Given the description of an element on the screen output the (x, y) to click on. 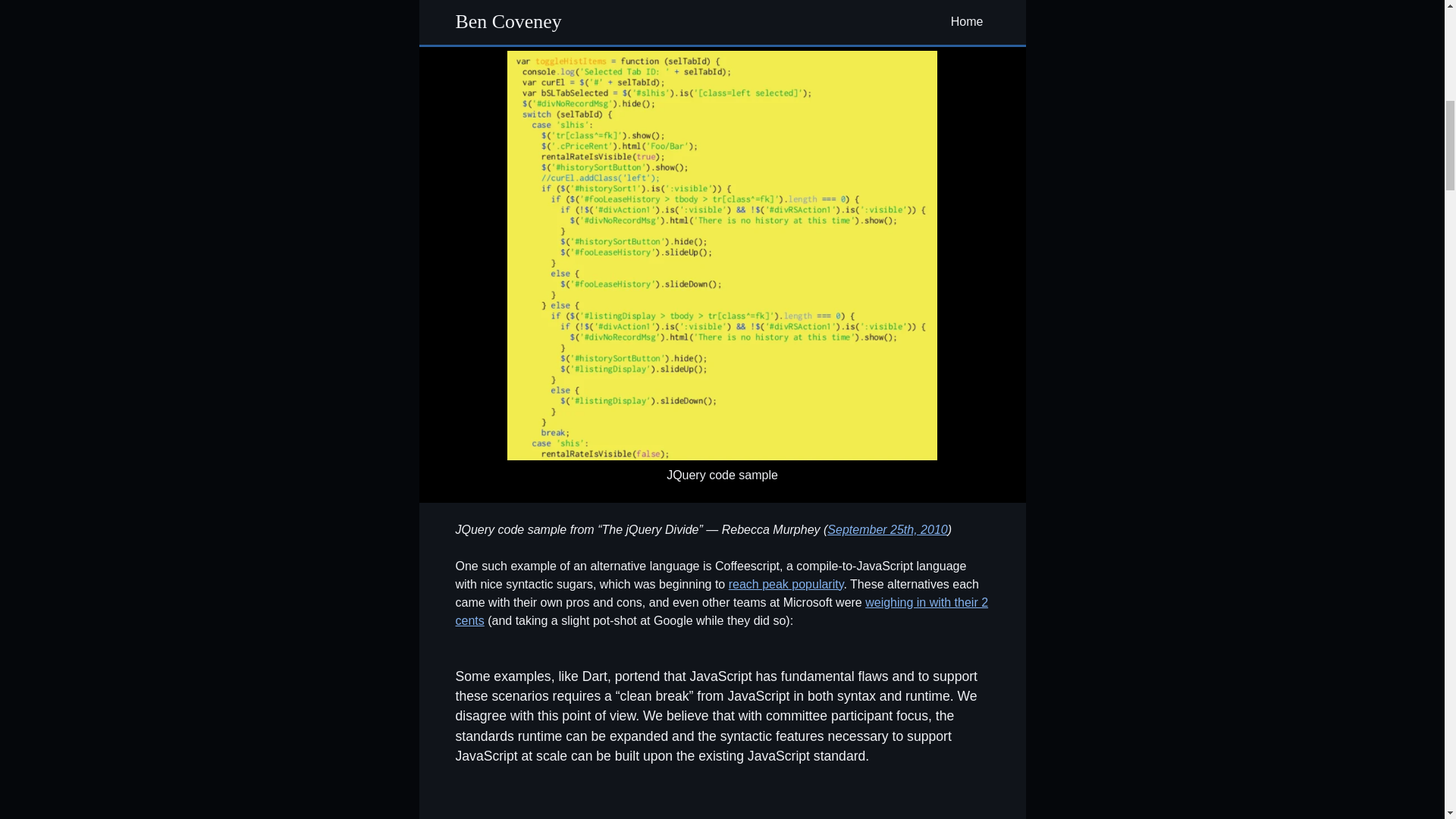
September 25th, 2010 (887, 529)
reach peak popularity (786, 584)
weighing in with their 2 cents (721, 611)
